Given the description of an element on the screen output the (x, y) to click on. 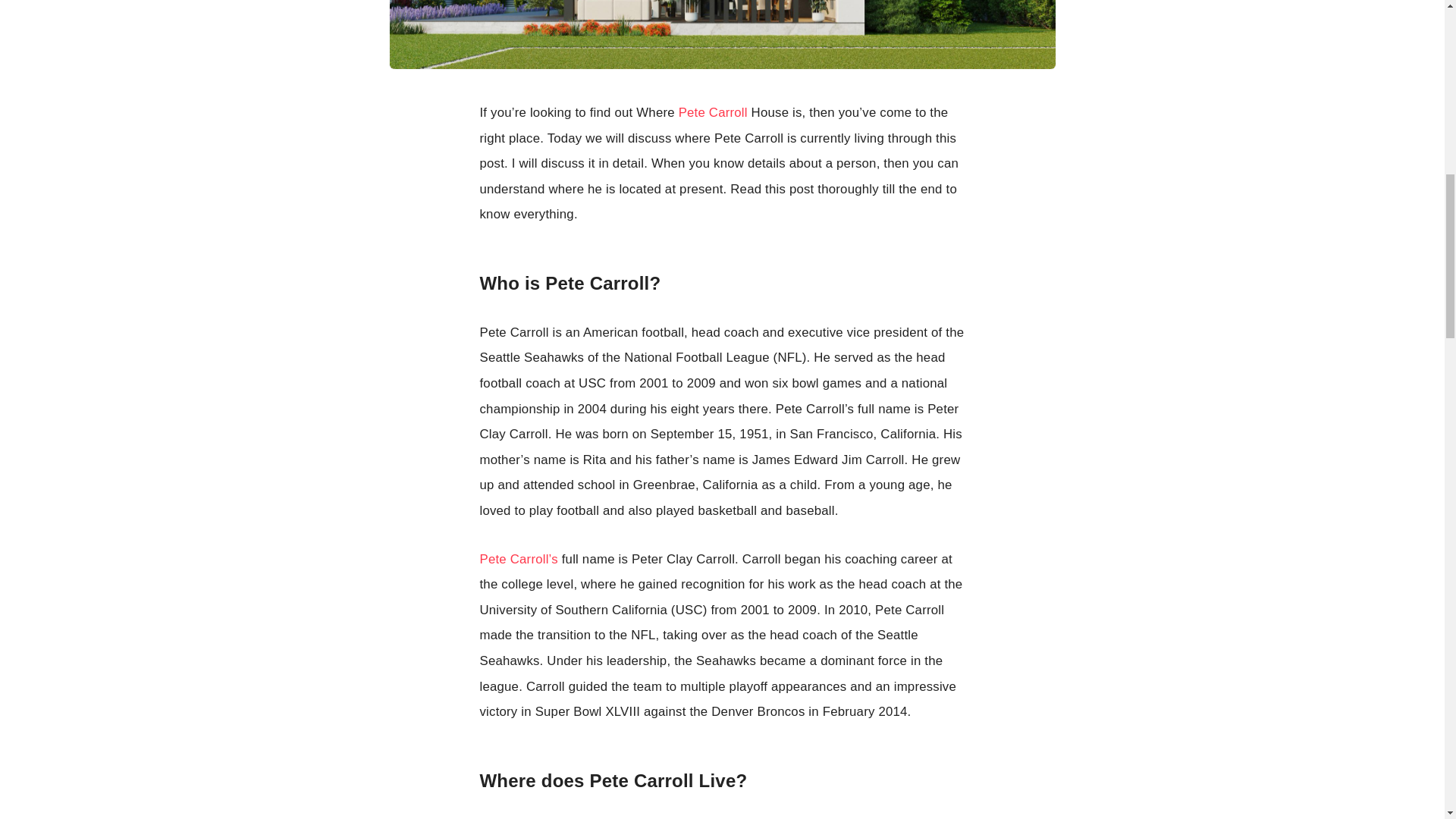
Pete Carroll (713, 112)
